Given the description of an element on the screen output the (x, y) to click on. 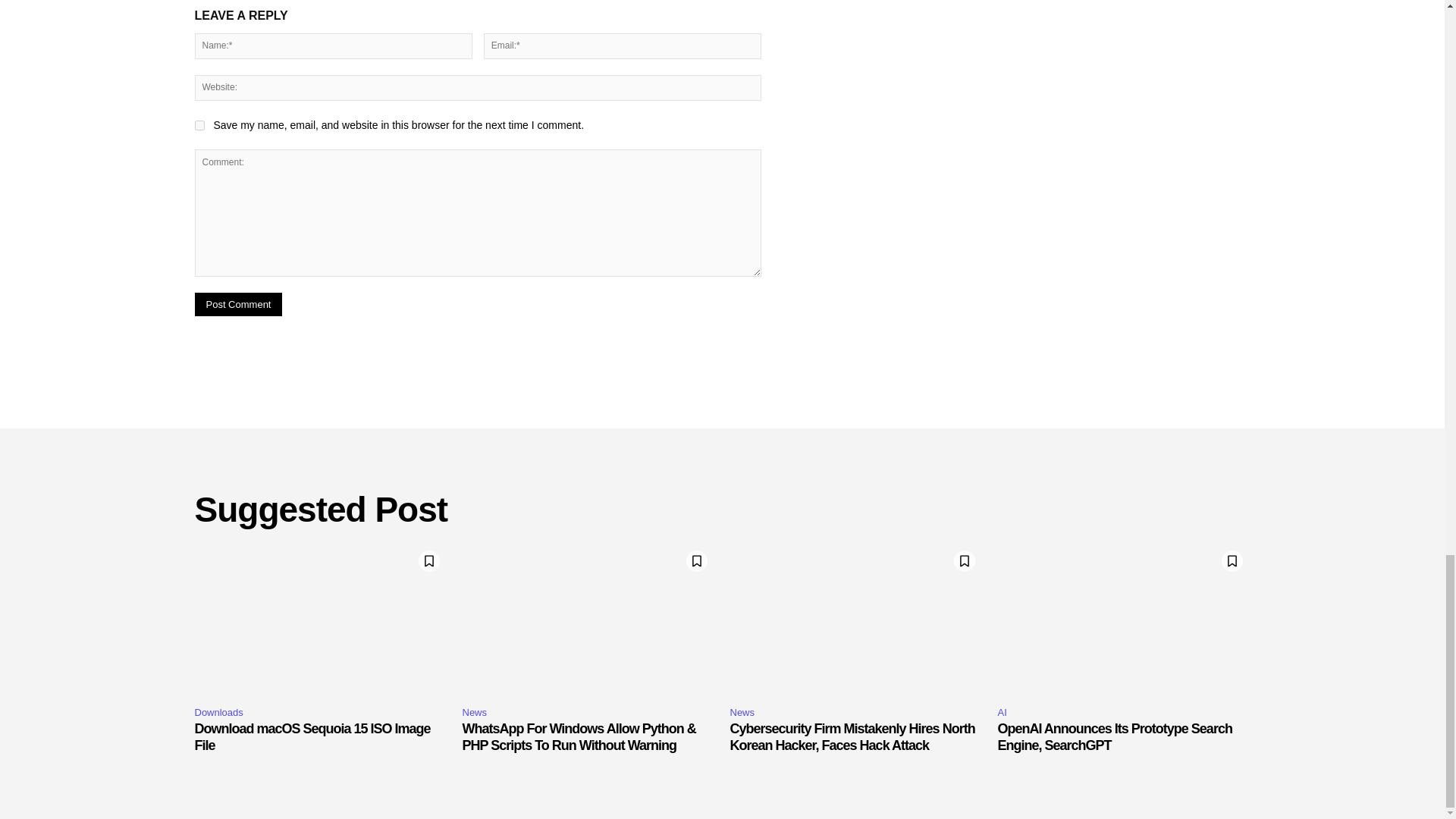
Post Comment (237, 304)
yes (198, 125)
Post Comment (237, 304)
